Given the description of an element on the screen output the (x, y) to click on. 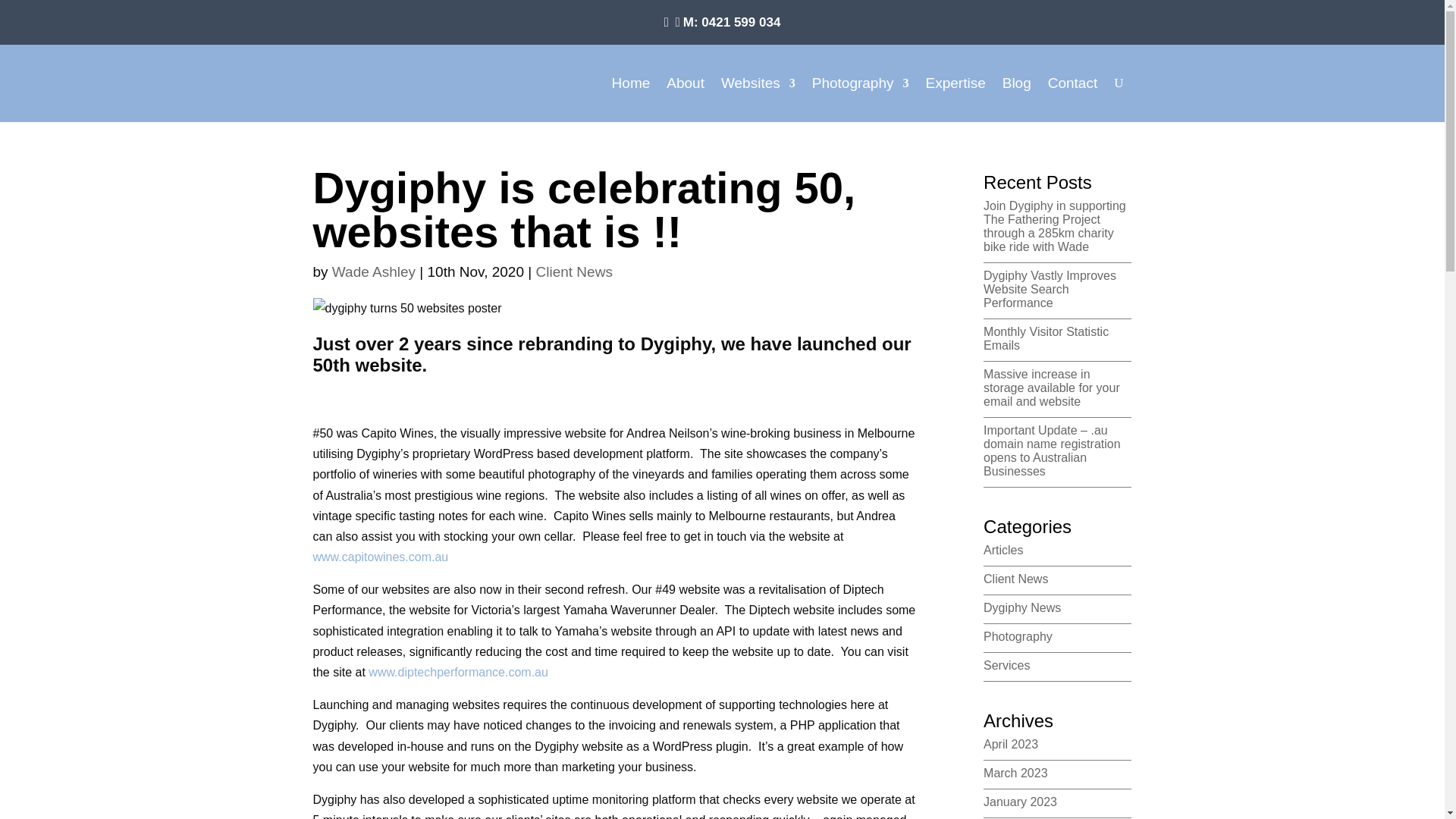
January 2023 Element type: text (1020, 801)
Photography Element type: text (1017, 636)
Contact Element type: text (1072, 83)
www.capitowines.com.au Element type: text (380, 556)
March 2023 Element type: text (1015, 772)
Services Element type: text (1006, 664)
Client News Element type: text (1015, 578)
Home Element type: text (630, 83)
About Element type: text (685, 83)
0421 599 034 Element type: text (740, 22)
Dygiphy News Element type: text (1021, 607)
Wade Ashley Element type: text (373, 271)
Websites Element type: text (758, 83)
Photography Element type: text (860, 83)
Monthly Visitor Statistic Emails Element type: text (1045, 338)
Client News Element type: text (574, 271)
Dygiphy Vastly Improves Website Search Performance Element type: text (1049, 289)
April 2023 Element type: text (1010, 743)
Expertise Element type: text (955, 83)
Articles Element type: text (1002, 549)
www.diptechperformance.com.au Element type: text (458, 671)
Blog Element type: text (1016, 83)
